Given the description of an element on the screen output the (x, y) to click on. 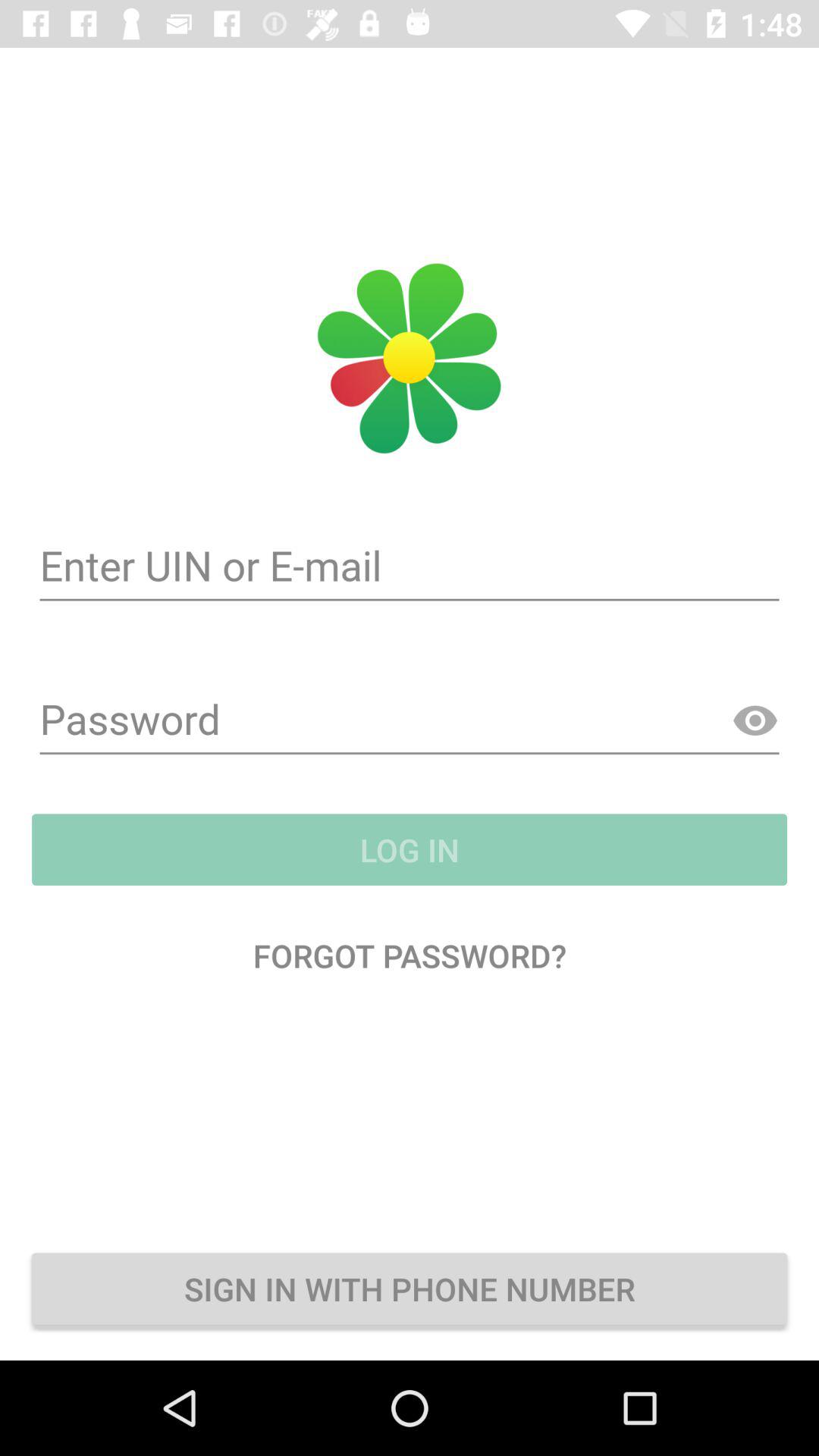
open the icon above sign in with item (409, 955)
